Given the description of an element on the screen output the (x, y) to click on. 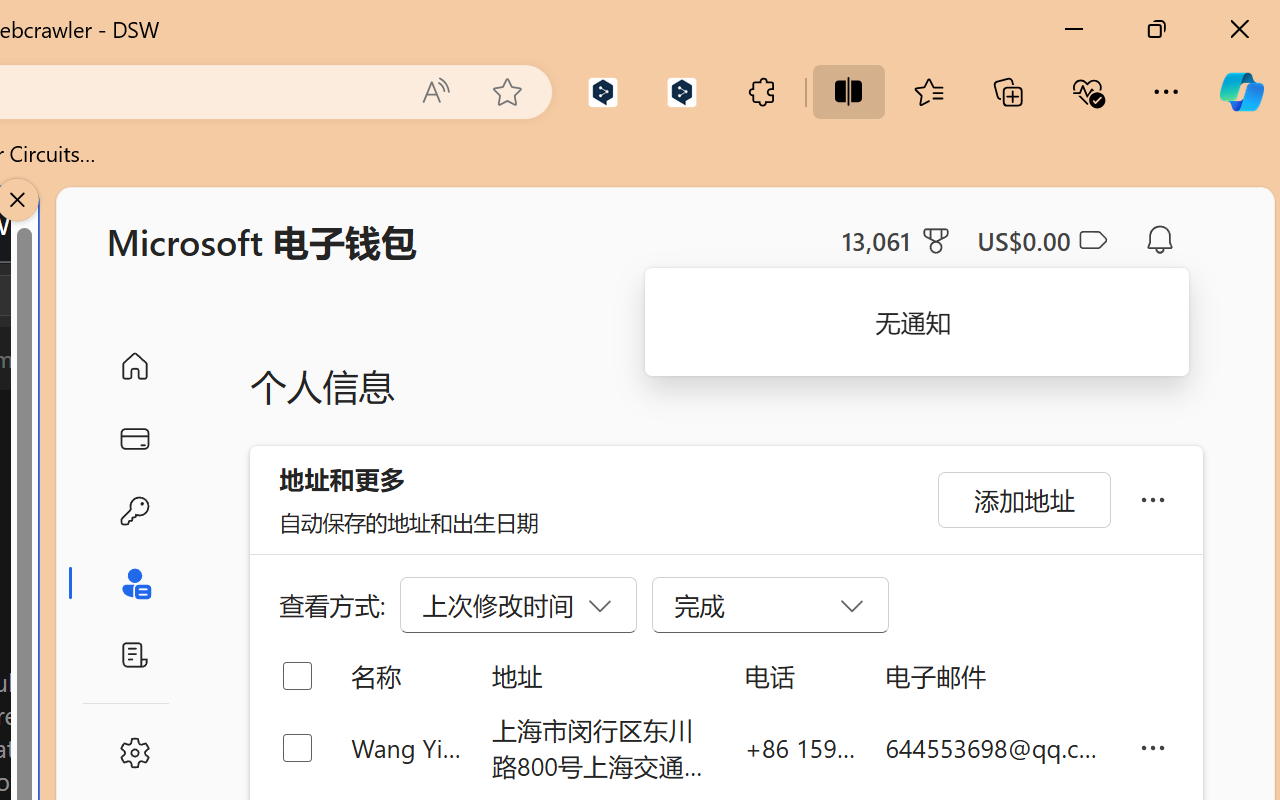
644553698@qq.com (996, 747)
Class: actions-container (94, 295)
Copilot (Ctrl+Shift+.) (1241, 91)
